Given the description of an element on the screen output the (x, y) to click on. 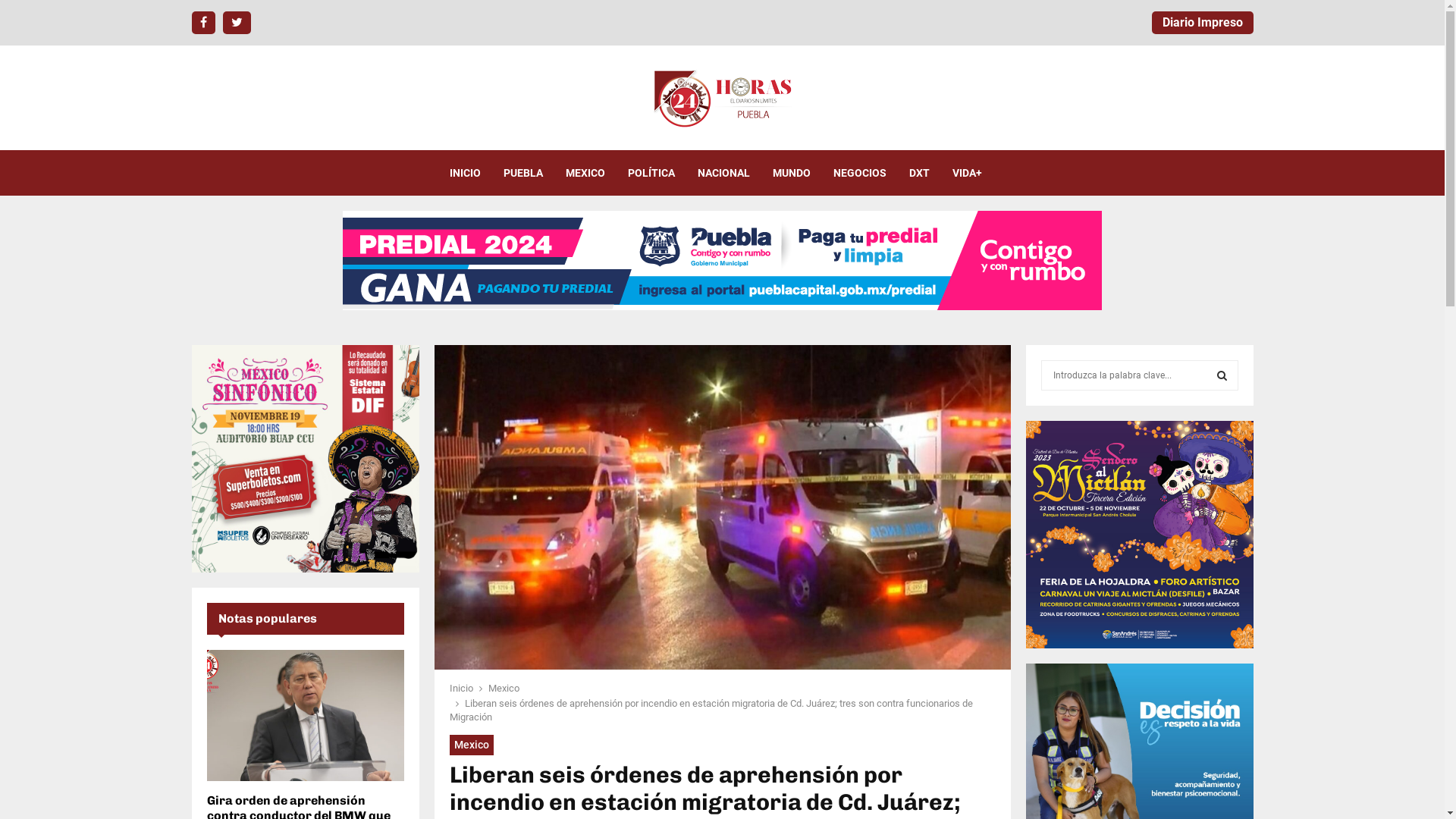
NACIONAL Element type: text (723, 172)
MUNDO Element type: text (790, 172)
SEARCH Element type: text (1221, 375)
Mexico Element type: text (470, 744)
PUEBLA Element type: text (522, 172)
NEGOCIOS Element type: text (858, 172)
INICIO Element type: text (464, 172)
VIDA+ Element type: text (967, 172)
DXT Element type: text (918, 172)
Inicio Element type: text (460, 687)
Facebook Element type: text (202, 22)
Twitter Element type: text (236, 22)
MEXICO Element type: text (585, 172)
Diario Impreso Element type: text (1201, 22)
Mexico Element type: text (503, 687)
